Given the description of an element on the screen output the (x, y) to click on. 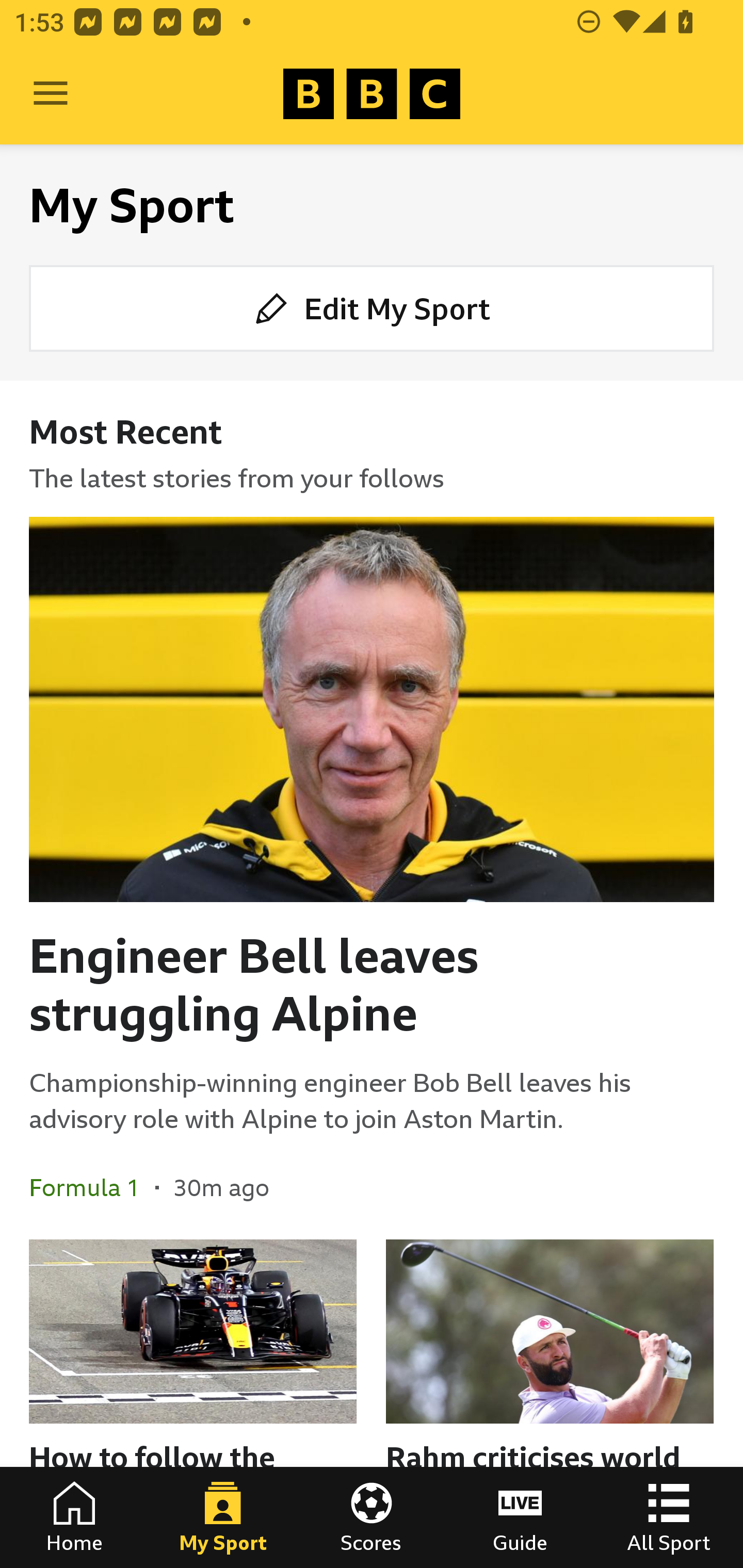
Open Menu (50, 93)
Edit My Sport (371, 307)
Home (74, 1517)
Scores (371, 1517)
Guide (519, 1517)
All Sport (668, 1517)
